Given the description of an element on the screen output the (x, y) to click on. 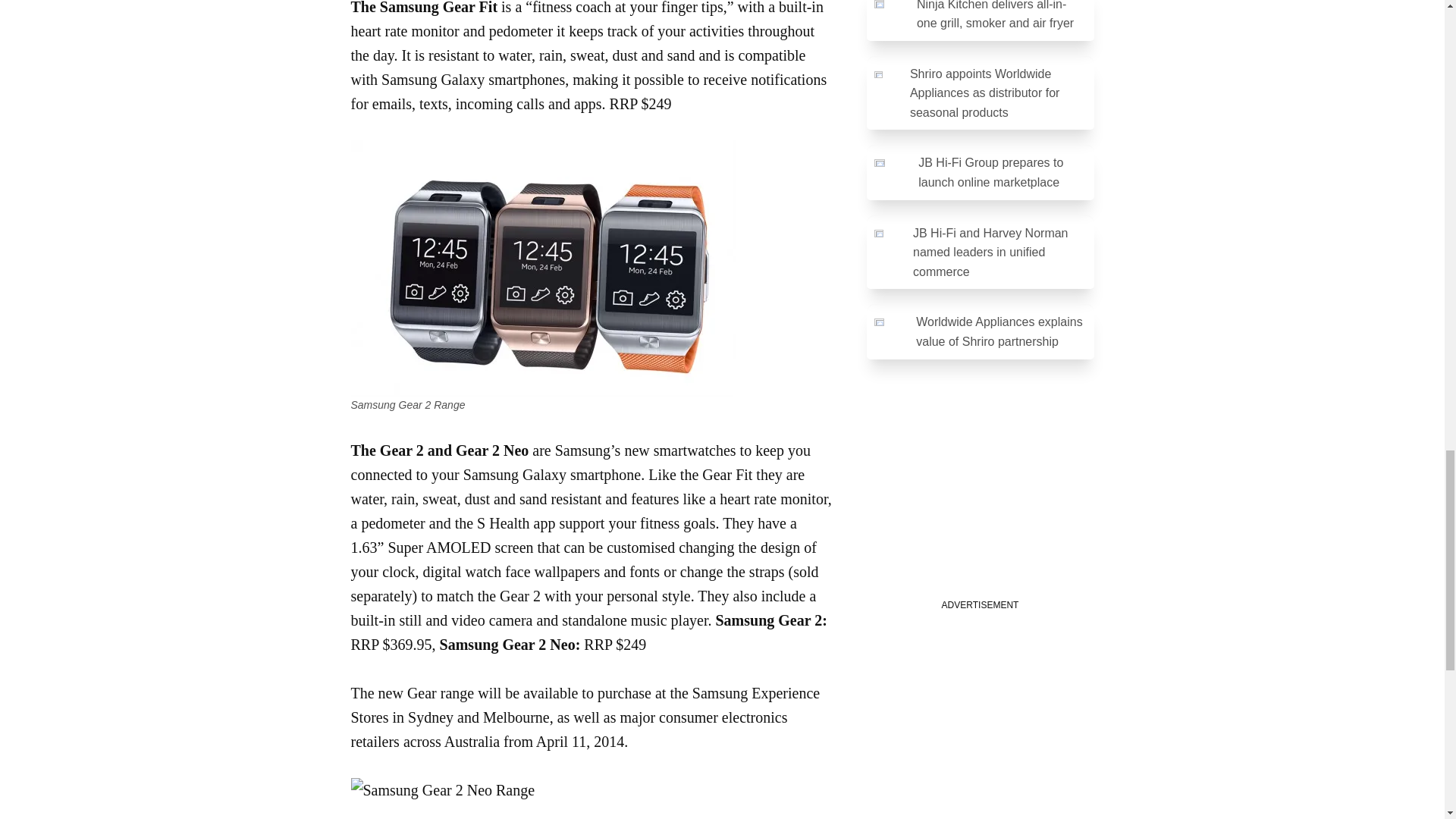
Worldwide Appliances explains value of Shriro partnership (979, 331)
JB Hi-Fi and Harvey Norman named leaders in unified commerce (979, 252)
JB Hi-Fi Group prepares to launch online marketplace (979, 172)
